Given the description of an element on the screen output the (x, y) to click on. 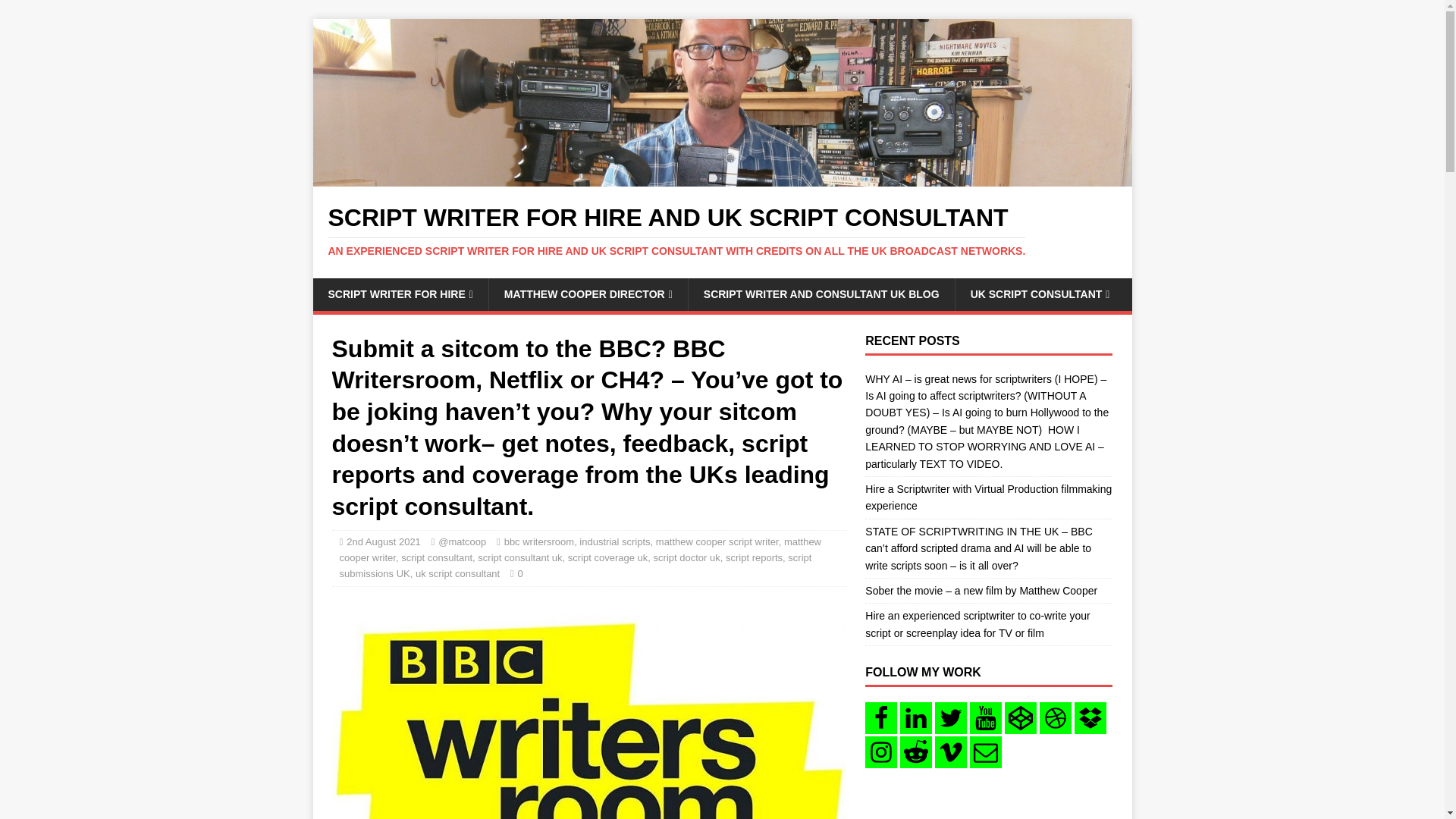
LinkedIn (915, 717)
Vimeo (950, 752)
Reddit (915, 752)
Script writer for hire and UK script consultant (722, 177)
Dropbox (1090, 717)
bbc writersroom (588, 710)
Dribbble (1055, 717)
Instagram (880, 752)
Script writer for hire and UK script consultant (721, 231)
Facebook (880, 717)
0 (520, 573)
Youtube (985, 717)
Twitter (950, 717)
Codepen (1020, 717)
